Given the description of an element on the screen output the (x, y) to click on. 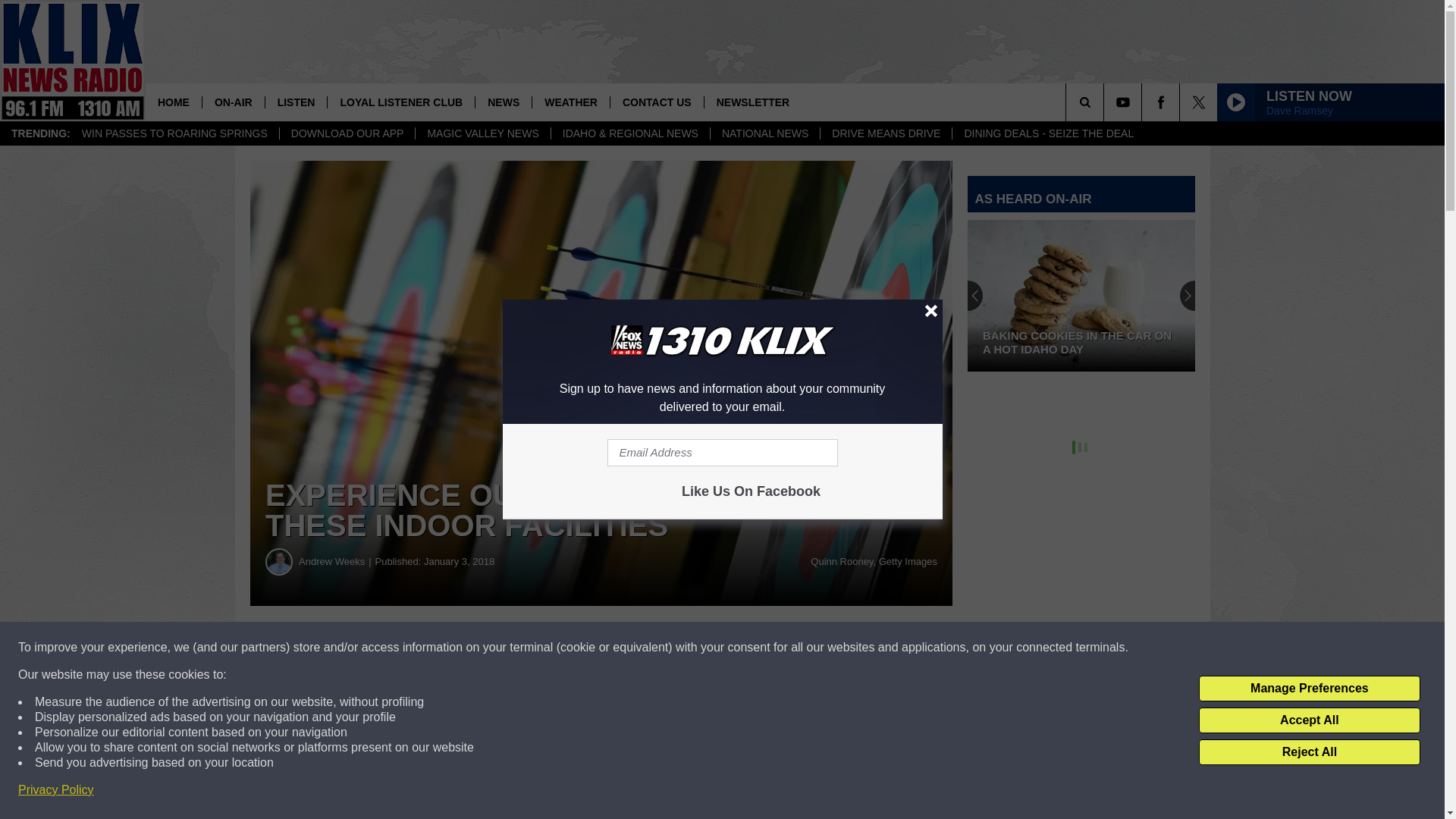
LOYAL LISTENER CLUB (400, 102)
DOWNLOAD OUR APP (346, 133)
DRIVE MEANS DRIVE (885, 133)
Email Address (722, 452)
Share on Twitter (741, 647)
Share on Facebook (460, 647)
Manage Preferences (1309, 688)
NATIONAL NEWS (764, 133)
SEARCH (1106, 102)
SEARCH (1106, 102)
Privacy Policy (55, 789)
LISTEN (295, 102)
DINING DEALS - SEIZE THE DEAL (1048, 133)
MAGIC VALLEY NEWS (482, 133)
Accept All (1309, 720)
